Given the description of an element on the screen output the (x, y) to click on. 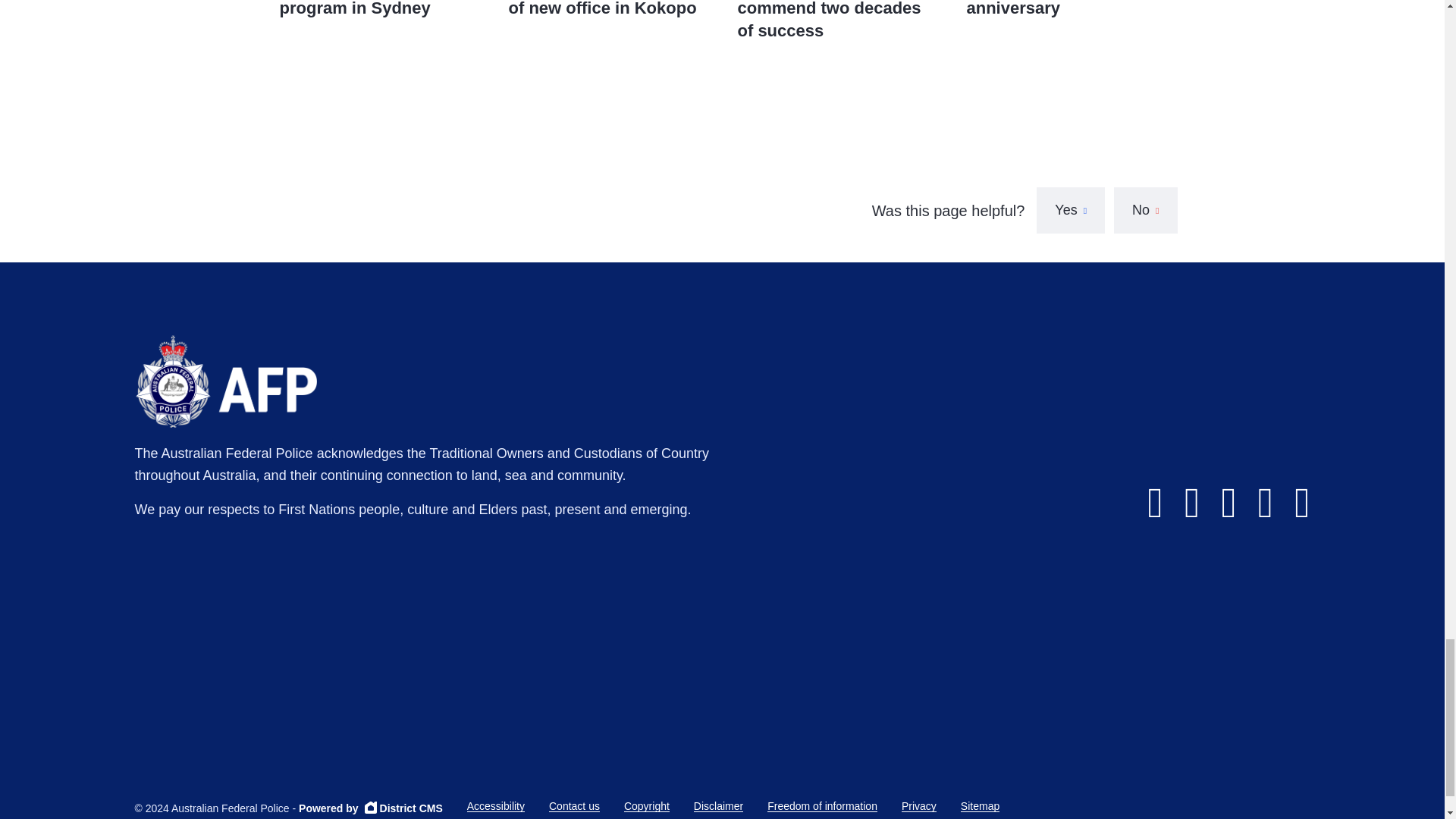
Contact us (573, 806)
Accessibility (495, 806)
Freedom of information (822, 806)
Government Content Management System (370, 808)
View (607, 33)
View (377, 33)
Copyright (646, 806)
Privacy (918, 806)
Disclaimer (718, 806)
